Given the description of an element on the screen output the (x, y) to click on. 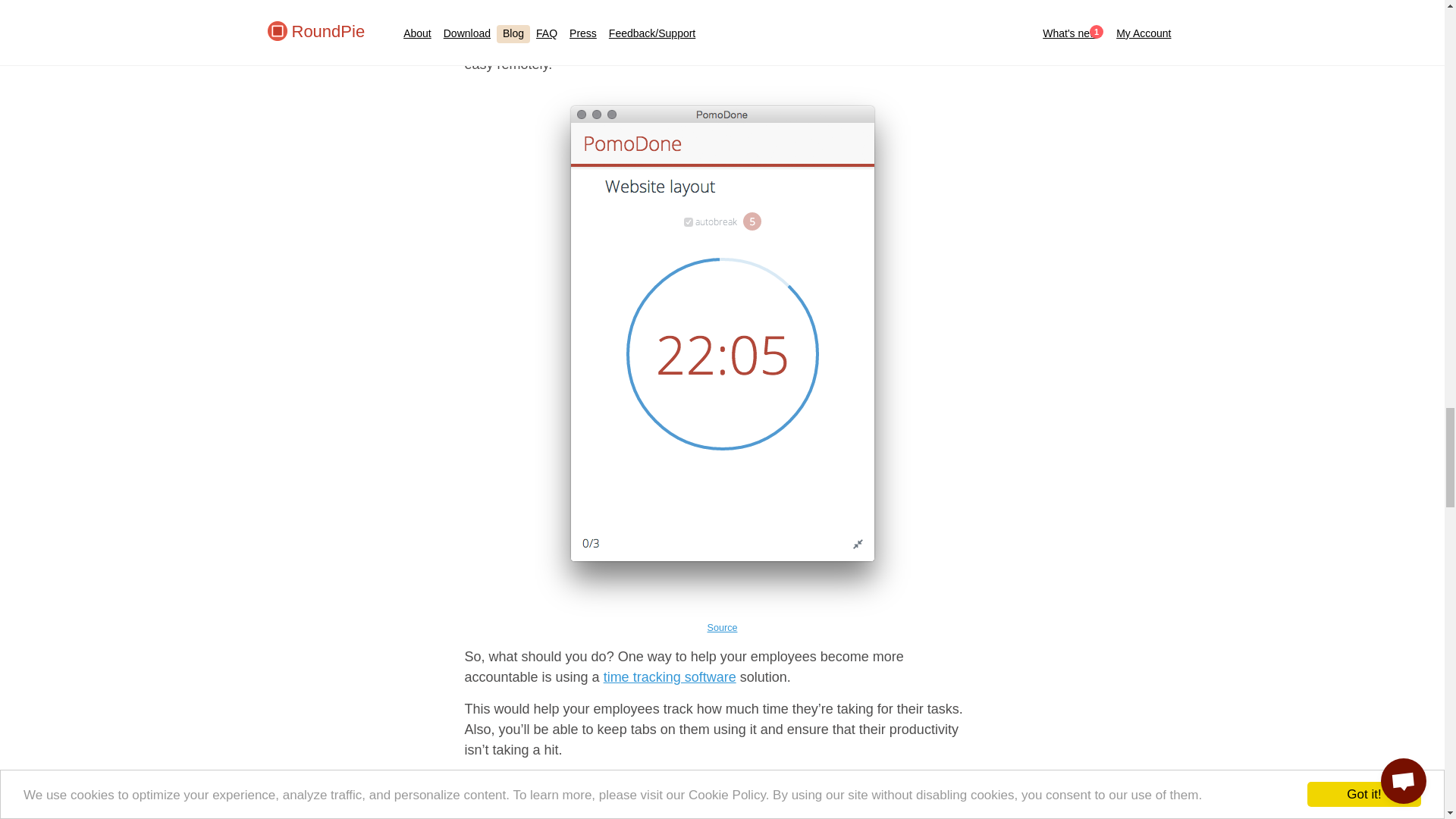
RoundPie (681, 781)
time tracking software (670, 676)
Source (722, 627)
